Given the description of an element on the screen output the (x, y) to click on. 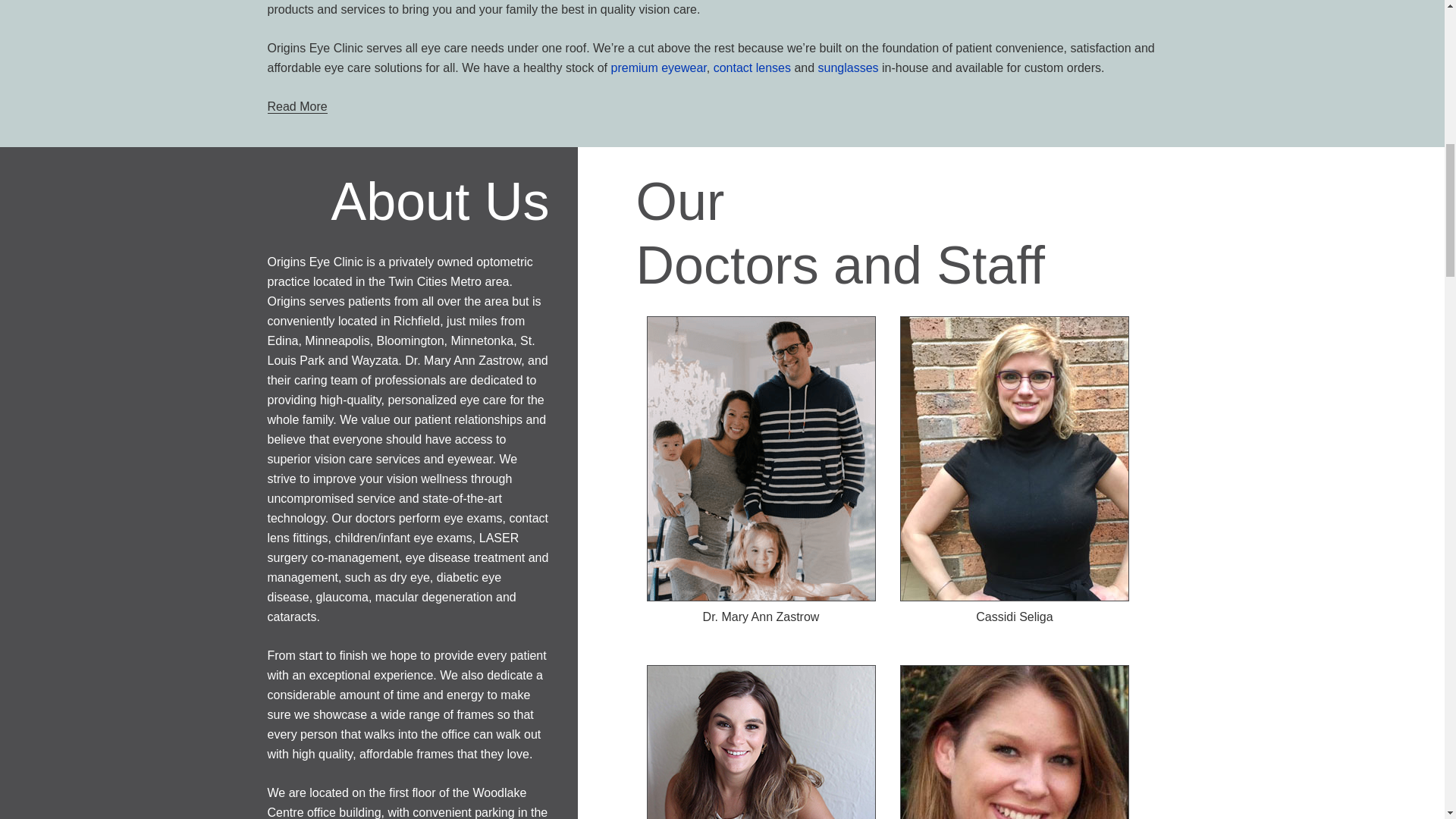
Susie Hemann (760, 742)
sunglasses (848, 67)
premium eyewear (658, 67)
contact lenses (751, 67)
Holly Gonzales (1014, 742)
